Given the description of an element on the screen output the (x, y) to click on. 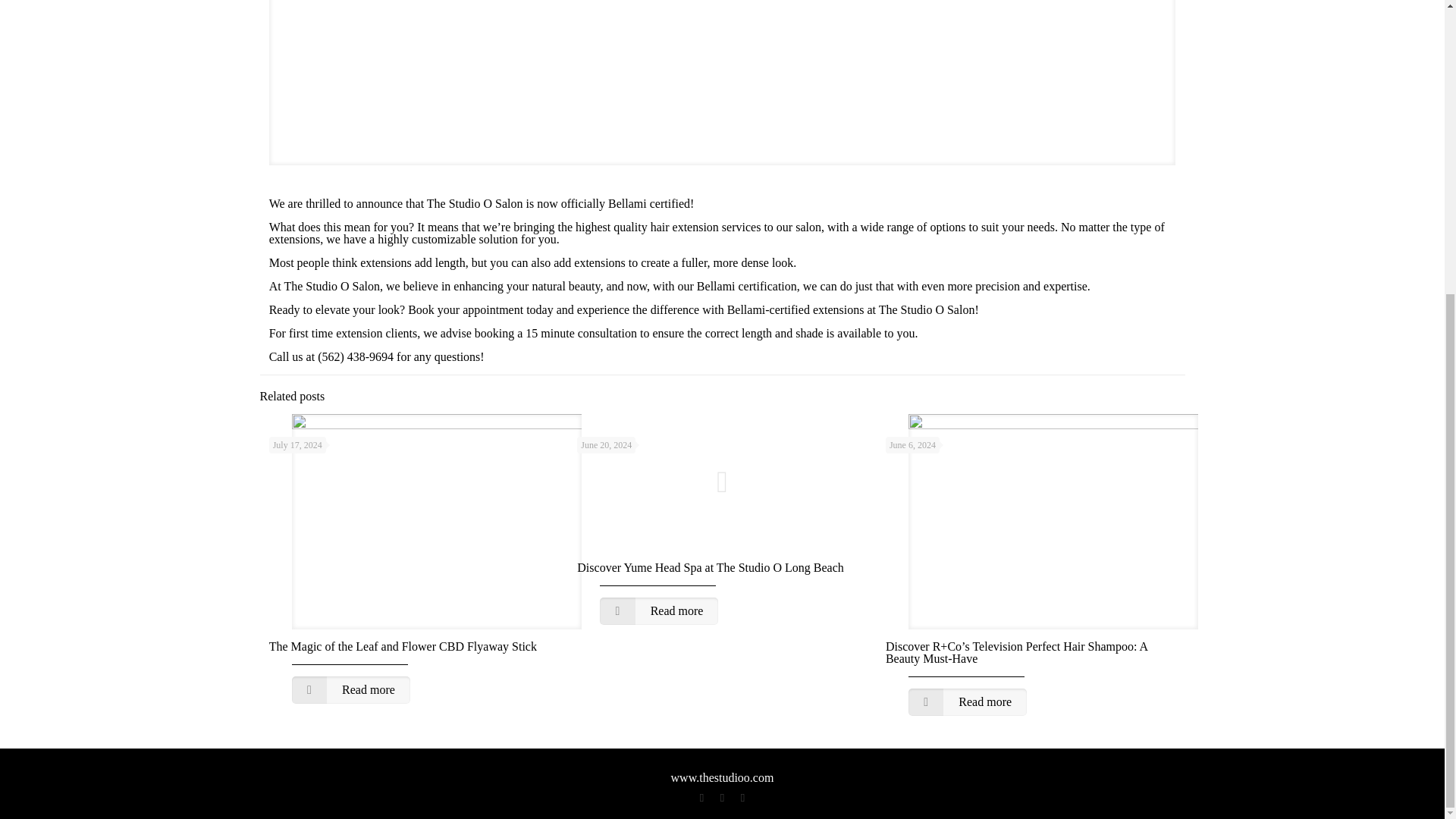
The Magic of the Leaf and Flower CBD Flyaway Stick (403, 645)
Discover Yume Head Spa at The Studio O Long Beach (709, 567)
YouTube (722, 797)
Read more (658, 610)
Read more (967, 701)
Instagram (743, 797)
Read more (351, 689)
Facebook (702, 797)
